Given the description of an element on the screen output the (x, y) to click on. 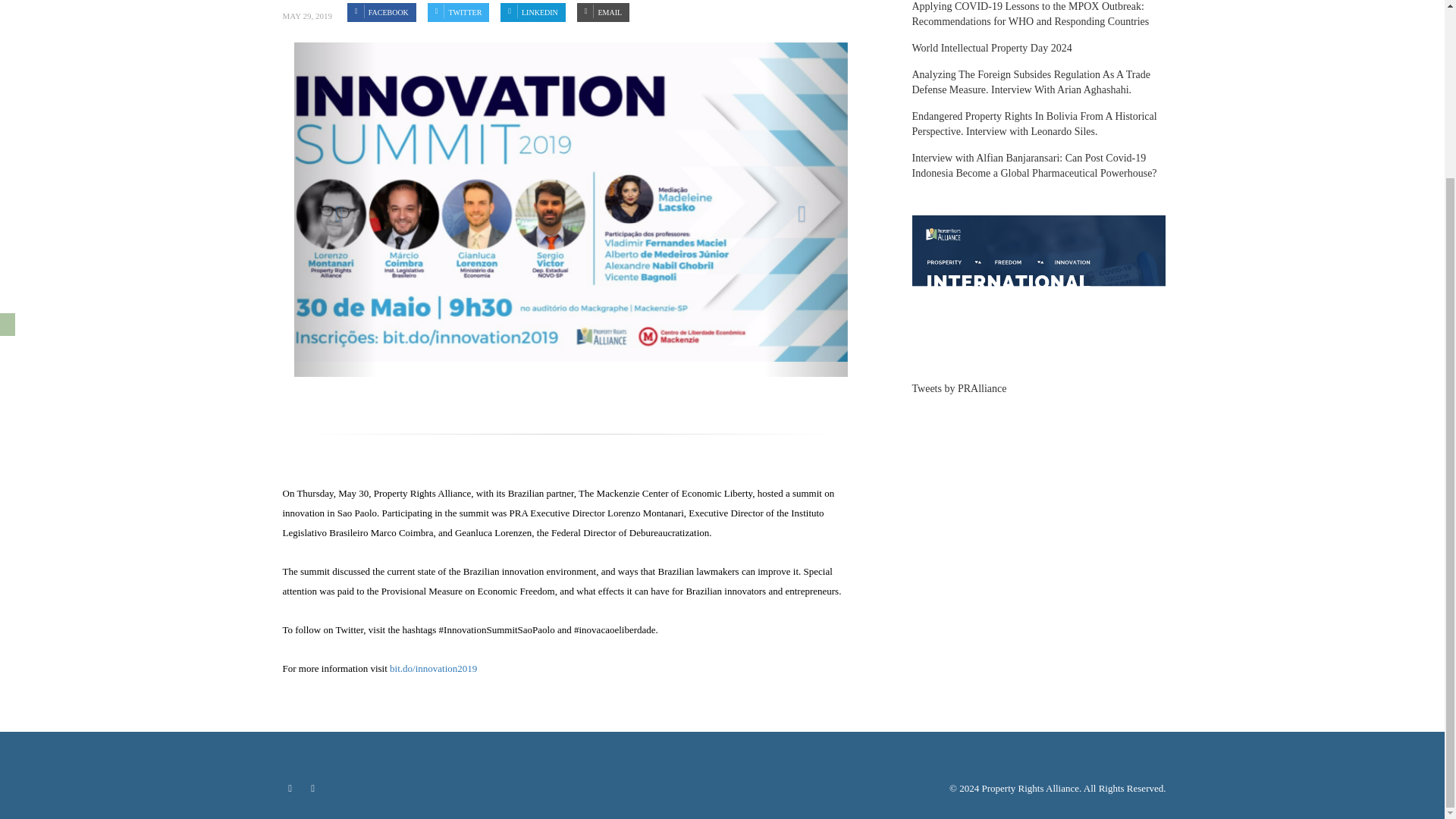
LINKEDIN (532, 12)
FACEBOOK (381, 12)
Tweets by PRAlliance (958, 388)
World Intellectual Property Day 2024 (991, 48)
TWITTER (458, 12)
EMAIL (602, 12)
